Given the description of an element on the screen output the (x, y) to click on. 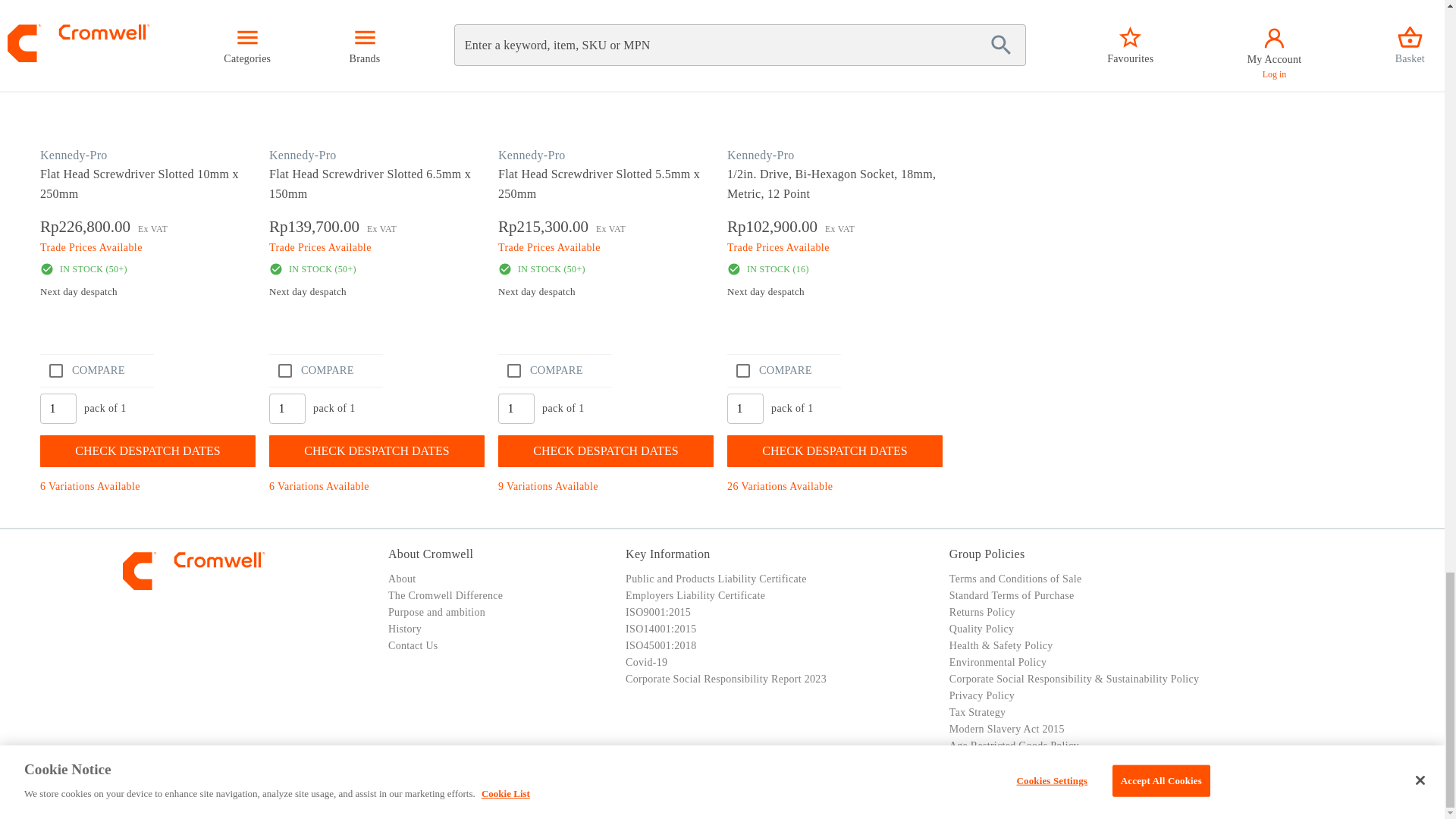
1 (744, 408)
1 (287, 408)
View Flat Head Screwdriver Slotted 6.5mm x 150mm (377, 183)
View Flat Head Screwdriver Slotted 6.5mm x 150mm (379, 90)
Kennedy-Pro (73, 154)
View Flat Head Screwdriver Slotted 5.5mm x 250mm (606, 183)
View Flat Head Screwdriver Slotted 10mm x 250mm (151, 90)
View Flat Head Screwdriver Slotted 5.5mm x 250mm (608, 90)
Flat Head Screwdriver Slotted 10mm x 250mm (150, 90)
Flat Head Screwdriver Slotted 6.5mm x 150mm (378, 90)
View Flat Head Screwdriver Slotted 10mm x 250mm (148, 183)
1 (58, 408)
1 (515, 408)
Flat Head Screwdriver Slotted 5.5mm x 250mm (608, 90)
